Given the description of an element on the screen output the (x, y) to click on. 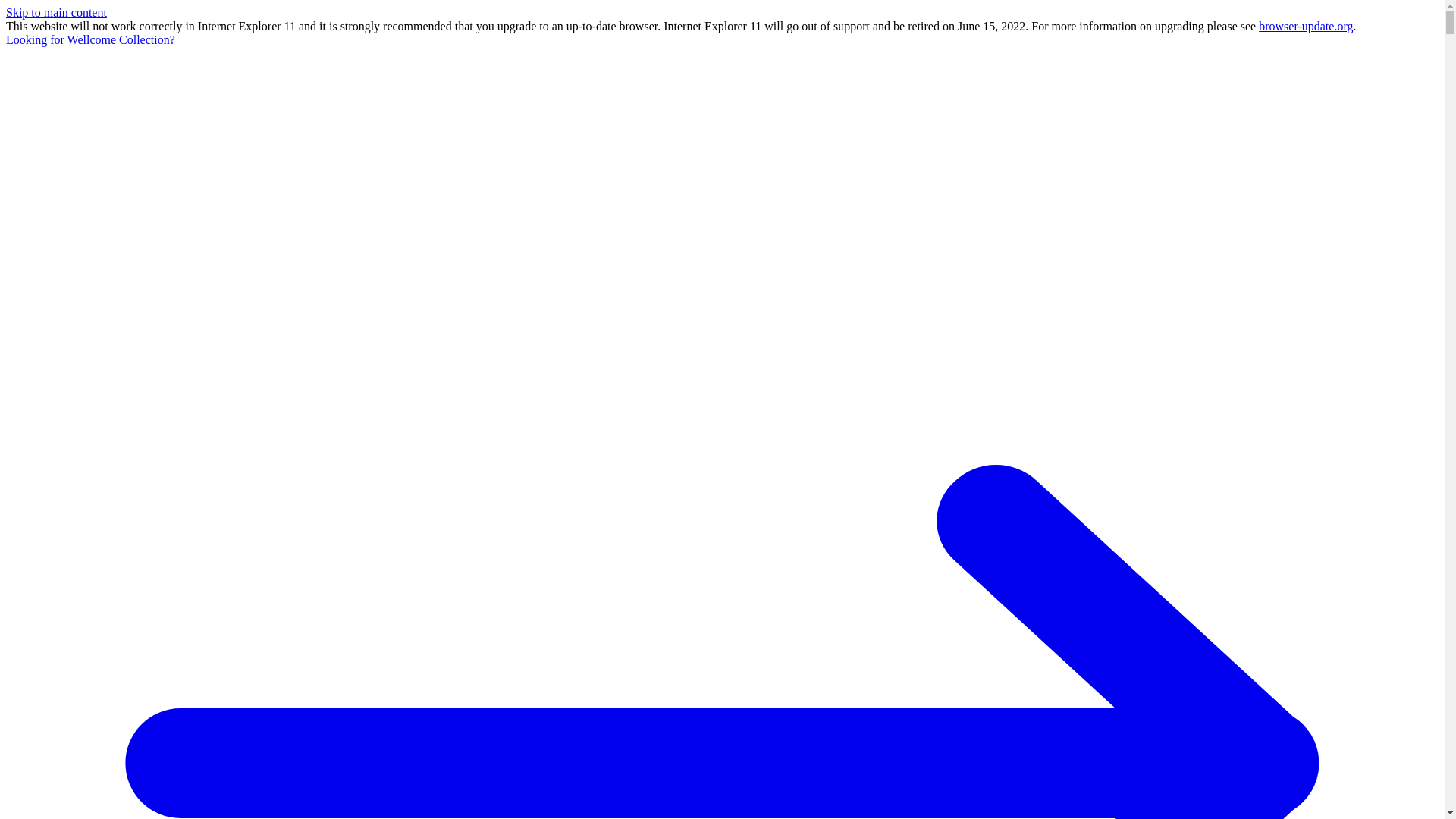
Skip to main content (55, 11)
browser-update.org (1305, 25)
